Given the description of an element on the screen output the (x, y) to click on. 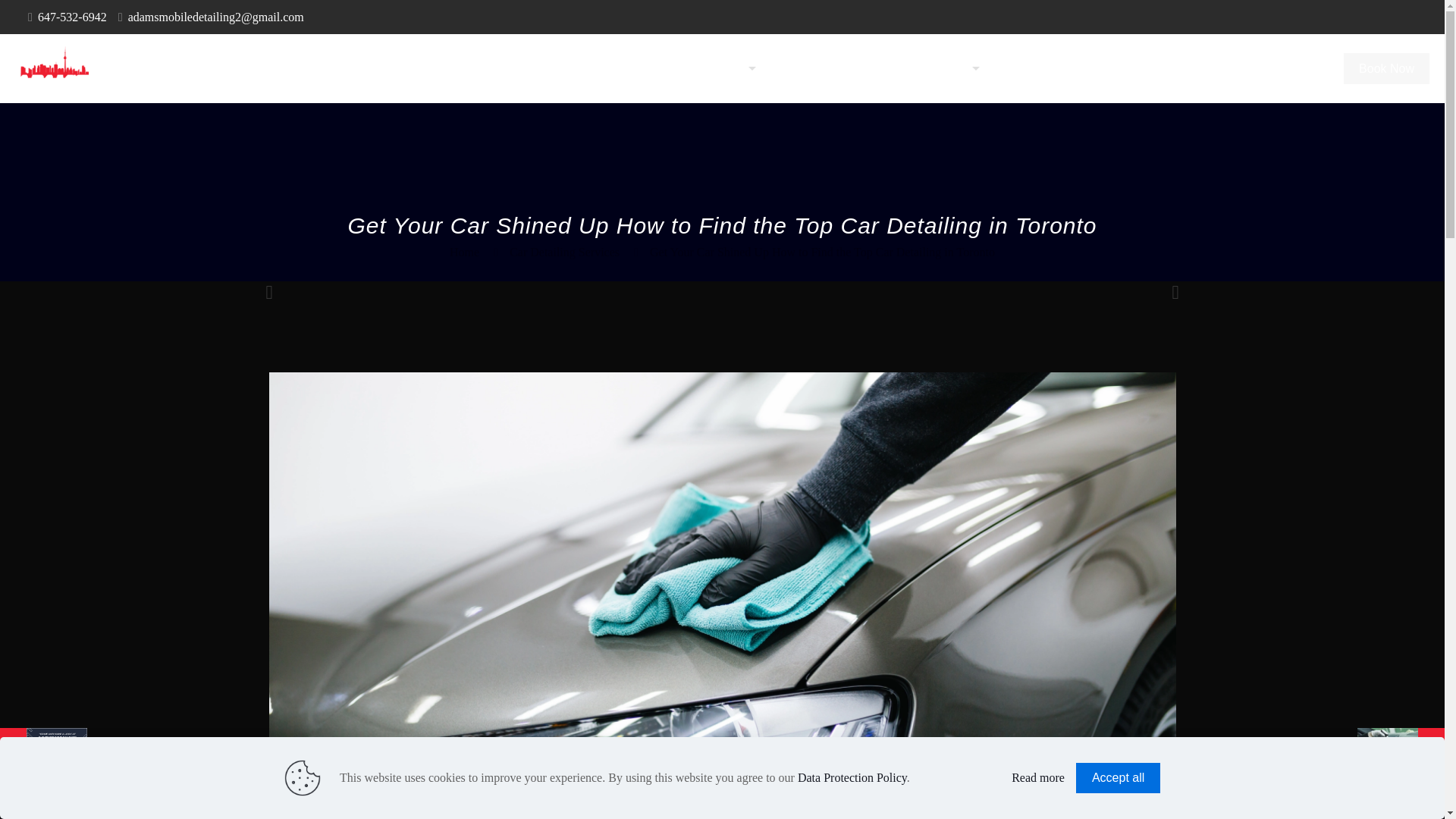
Gallery (1163, 68)
Home (566, 68)
Monthly Subscriction (1058, 68)
Services (720, 68)
Car Detailing Services (564, 251)
Adams  (51, 68)
Locations (941, 68)
Additional Services (829, 68)
Home (464, 251)
About Us (638, 68)
Contact (1288, 68)
Book Now (1386, 68)
647-532-6942 (71, 16)
